Given the description of an element on the screen output the (x, y) to click on. 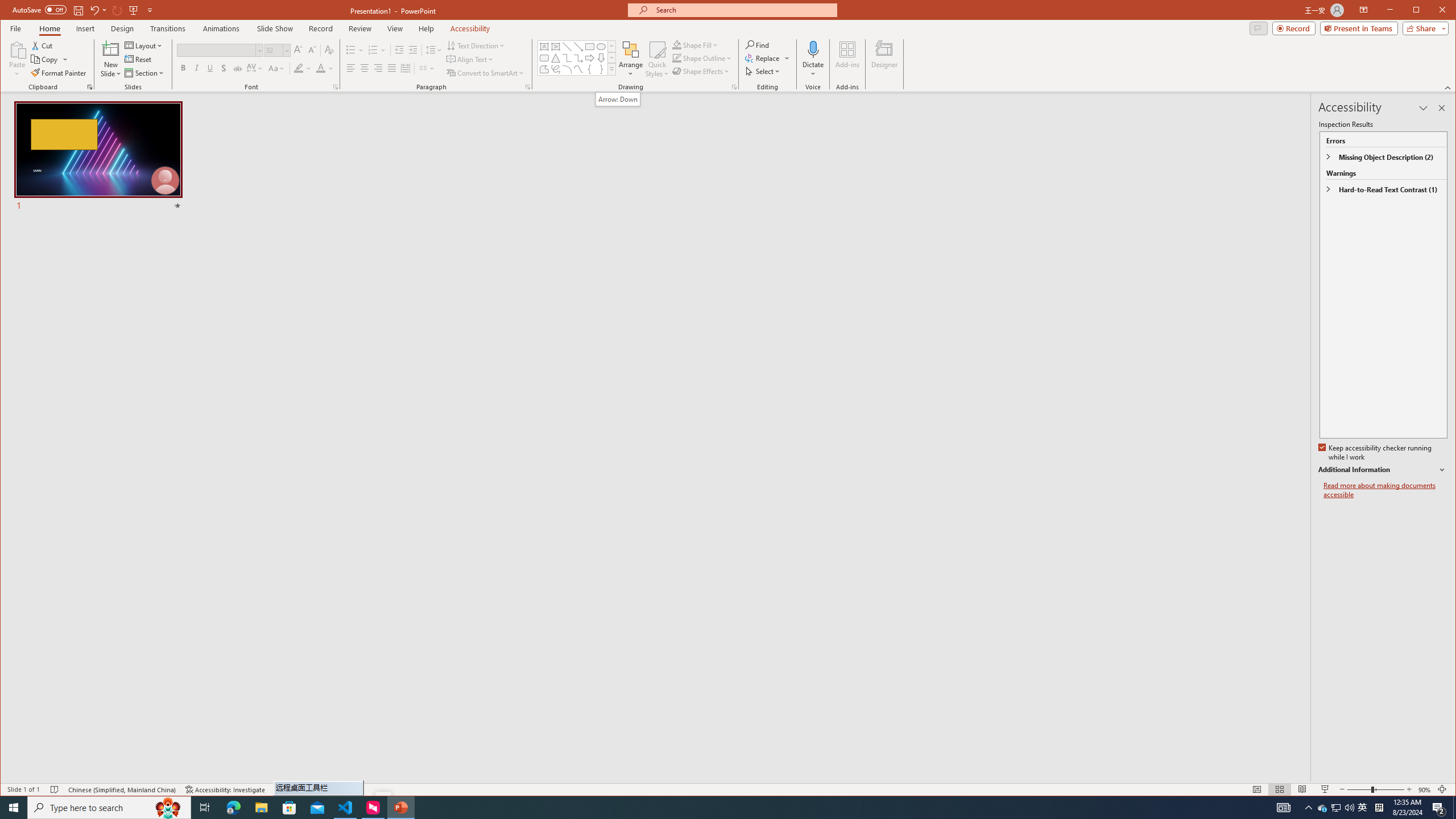
Zoom 90% (1424, 789)
Decrease Indent (399, 49)
Align Right (377, 68)
Increase Indent (412, 49)
